Given the description of an element on the screen output the (x, y) to click on. 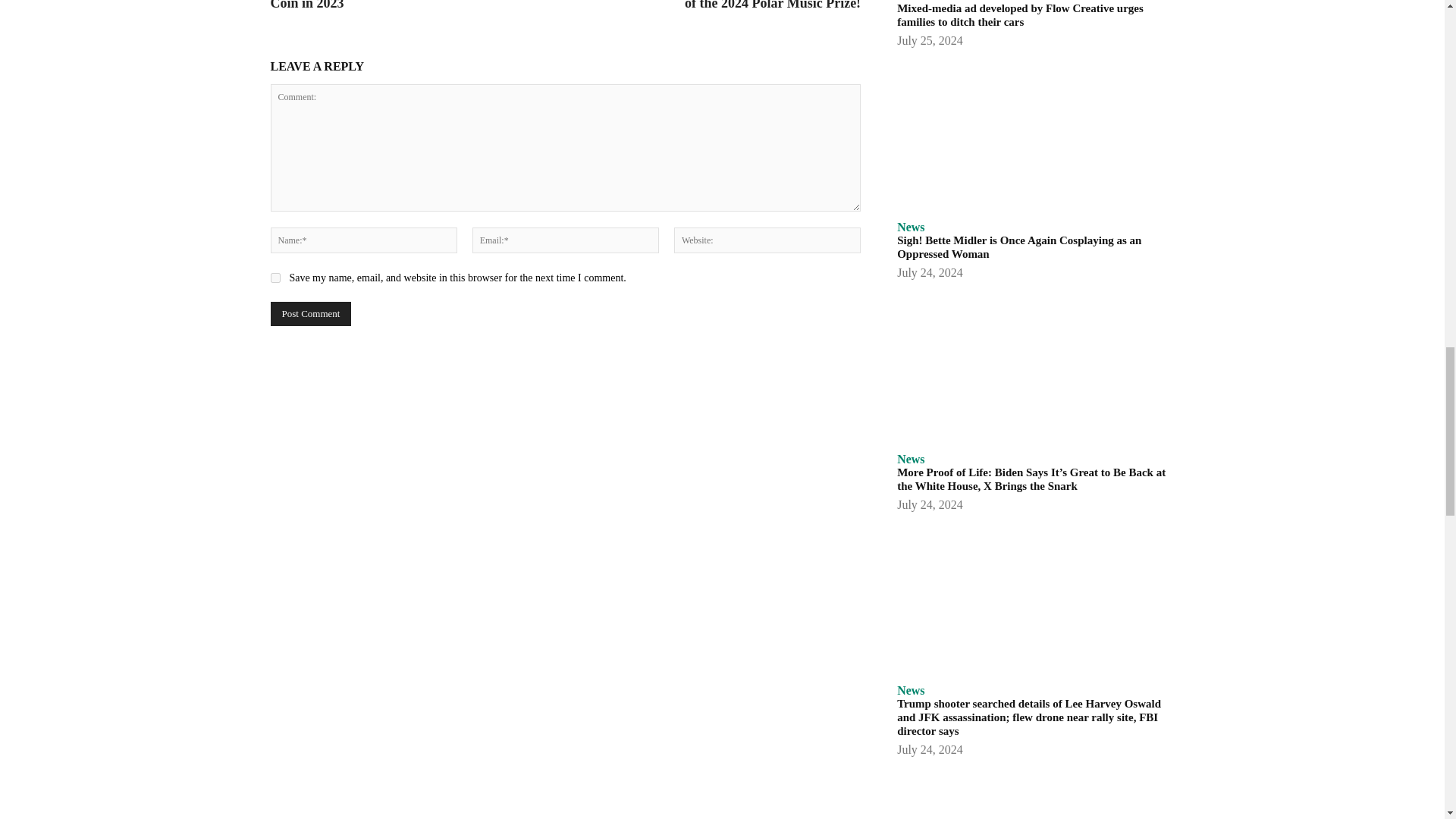
Post Comment (309, 313)
yes (274, 277)
